Given the description of an element on the screen output the (x, y) to click on. 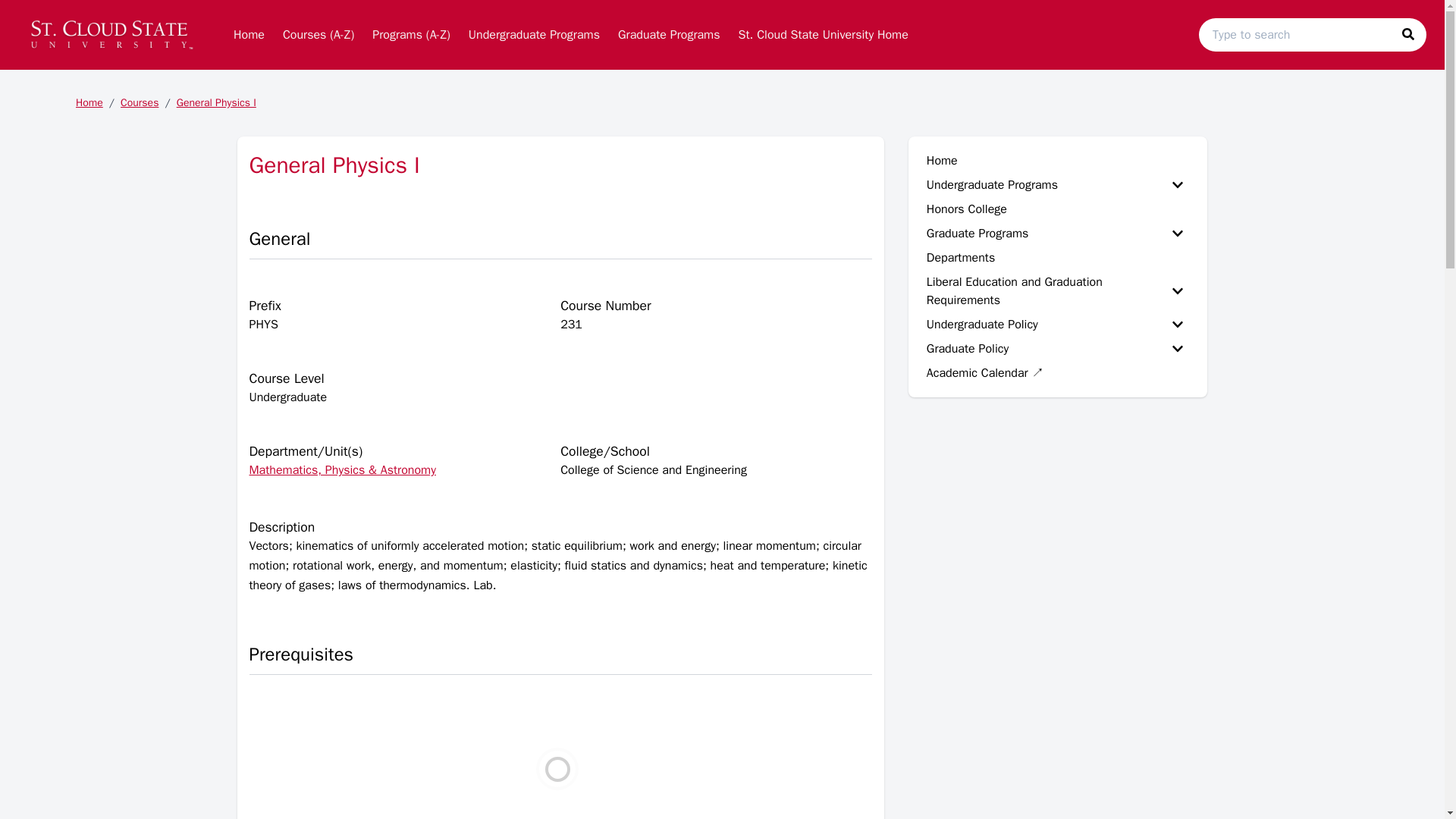
Graduate Programs (668, 34)
St. Cloud State University Home (823, 34)
Home (248, 34)
Undergraduate Programs (534, 34)
Home (248, 34)
Graduate Programs (668, 34)
Undergraduate Programs (534, 34)
St. Cloud State University Home (823, 34)
